Given the description of an element on the screen output the (x, y) to click on. 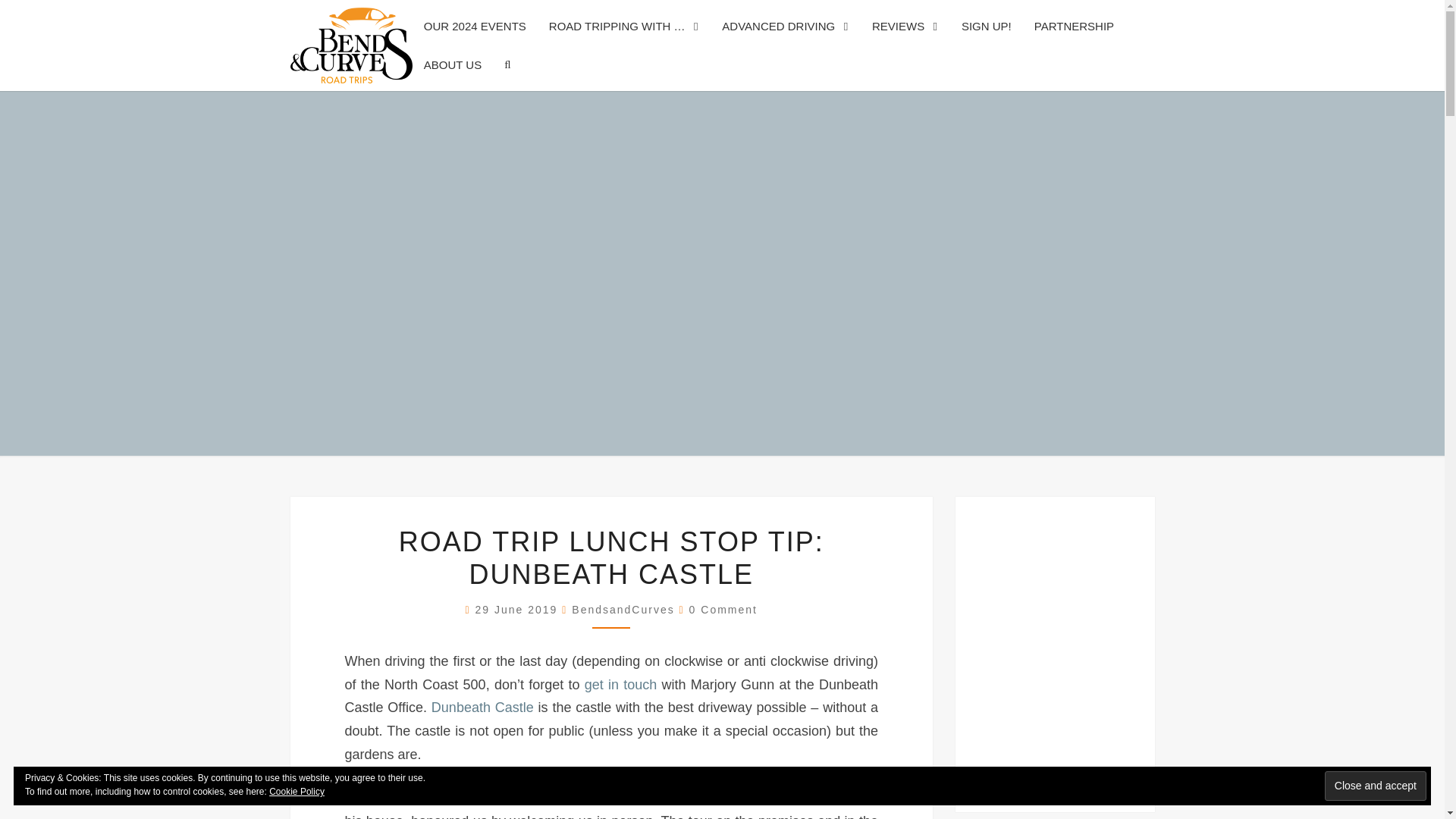
REVIEWS (905, 25)
Dunbeath Castle (484, 707)
SIGN UP! (986, 25)
29 June 2019 (519, 609)
ABOUT US (452, 64)
Close and accept (1375, 785)
ADVANCED DRIVING (785, 25)
OUR 2024 EVENTS (474, 25)
0 Comment (722, 609)
17:24 (519, 609)
